Given the description of an element on the screen output the (x, y) to click on. 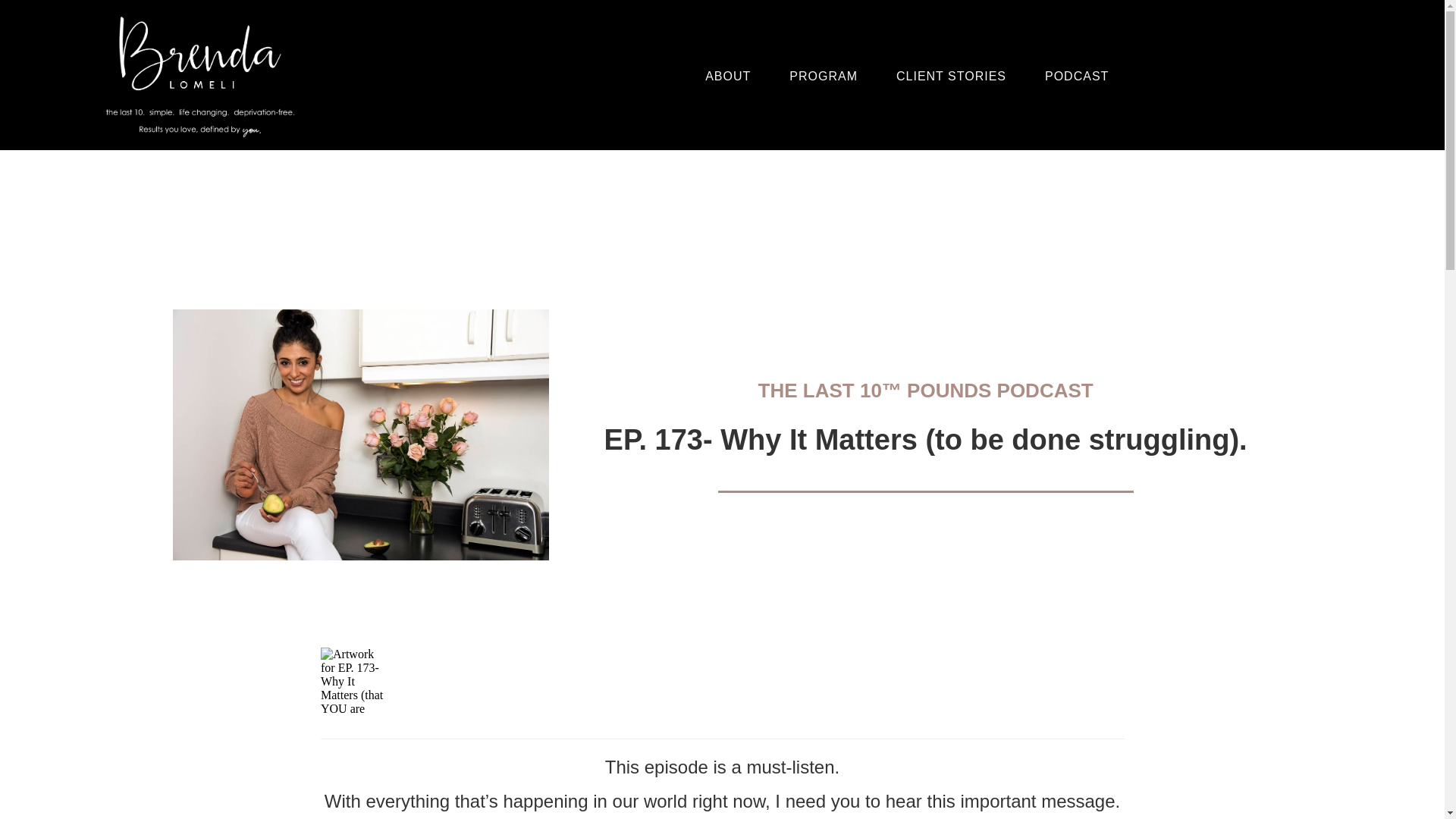
CLIENT STORIES (951, 76)
ABOUT (727, 76)
PODCAST (1076, 76)
PROGRAM (823, 76)
